Given the description of an element on the screen output the (x, y) to click on. 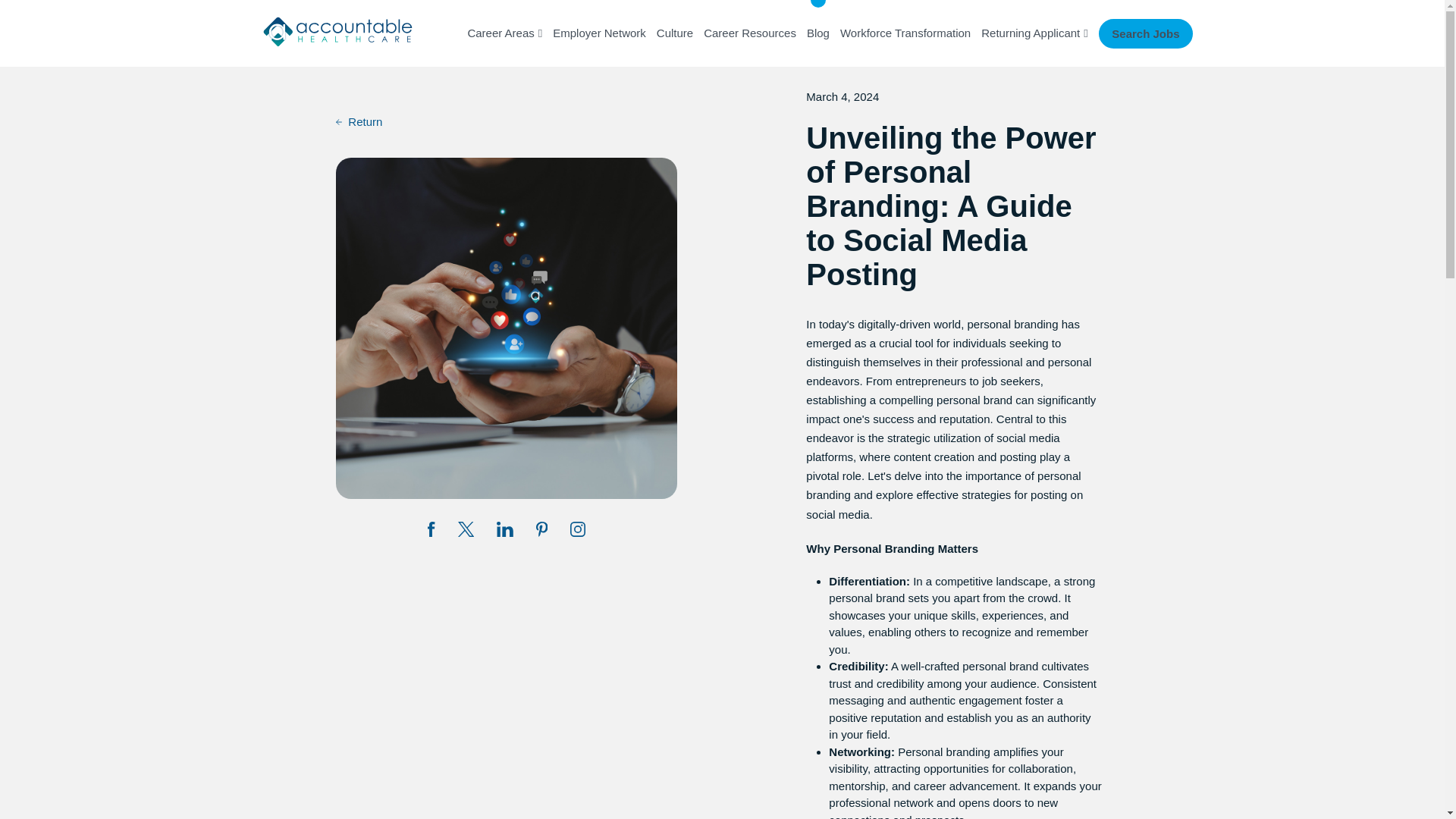
Blog (817, 33)
Workforce Transformation (905, 33)
Culture (674, 33)
Return (358, 122)
Employer Network (599, 33)
Career Resources (749, 33)
Search Jobs (1145, 32)
